Given the description of an element on the screen output the (x, y) to click on. 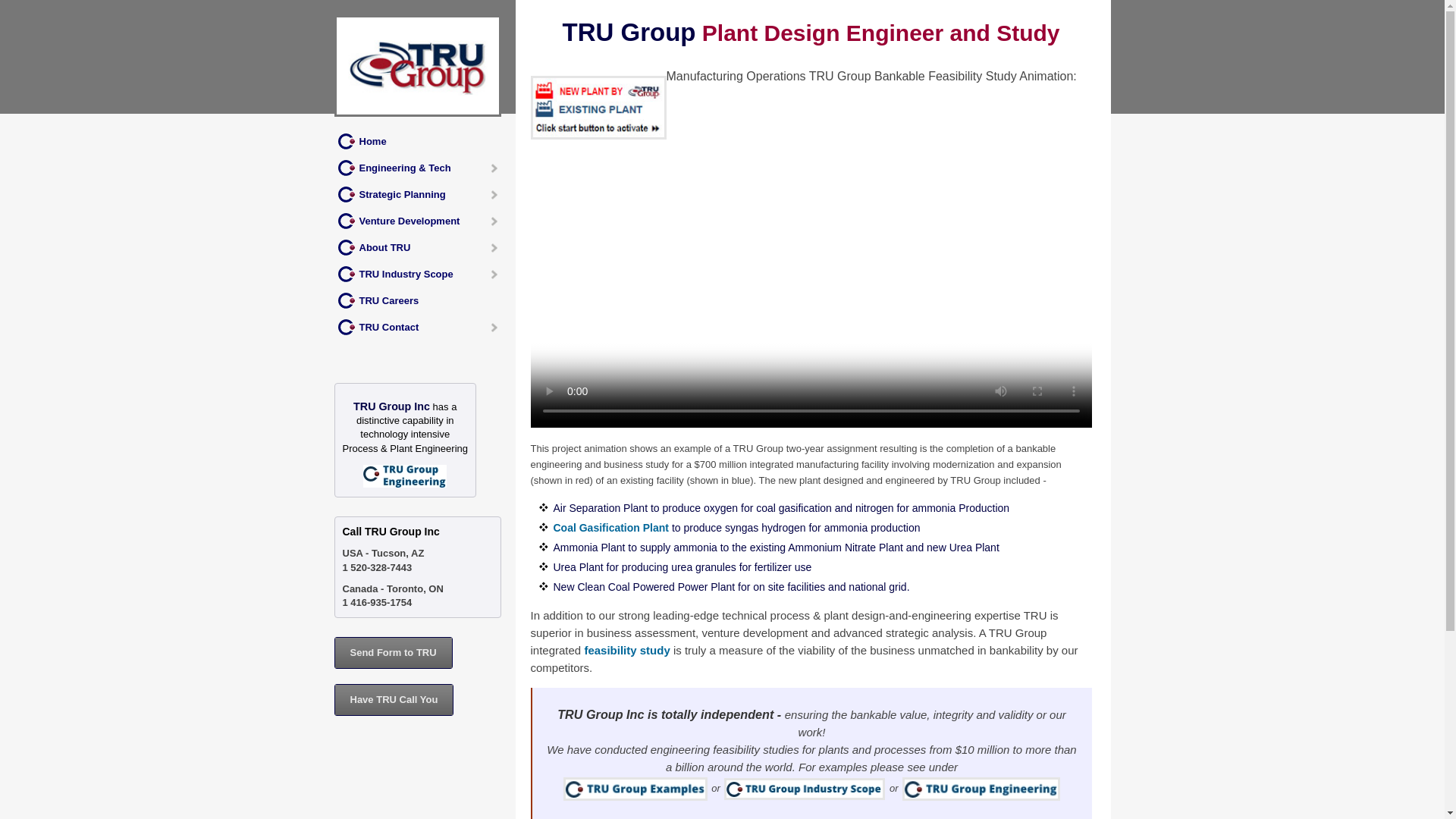
TRU Industry Scope (421, 274)
About TRU (421, 247)
Ask TRU to call you or send TRU your questions (392, 653)
Ask TRU to call you or send TRU your questions (393, 699)
Venture Development (421, 221)
Strategic Planning (421, 194)
Home (421, 140)
